Given the description of an element on the screen output the (x, y) to click on. 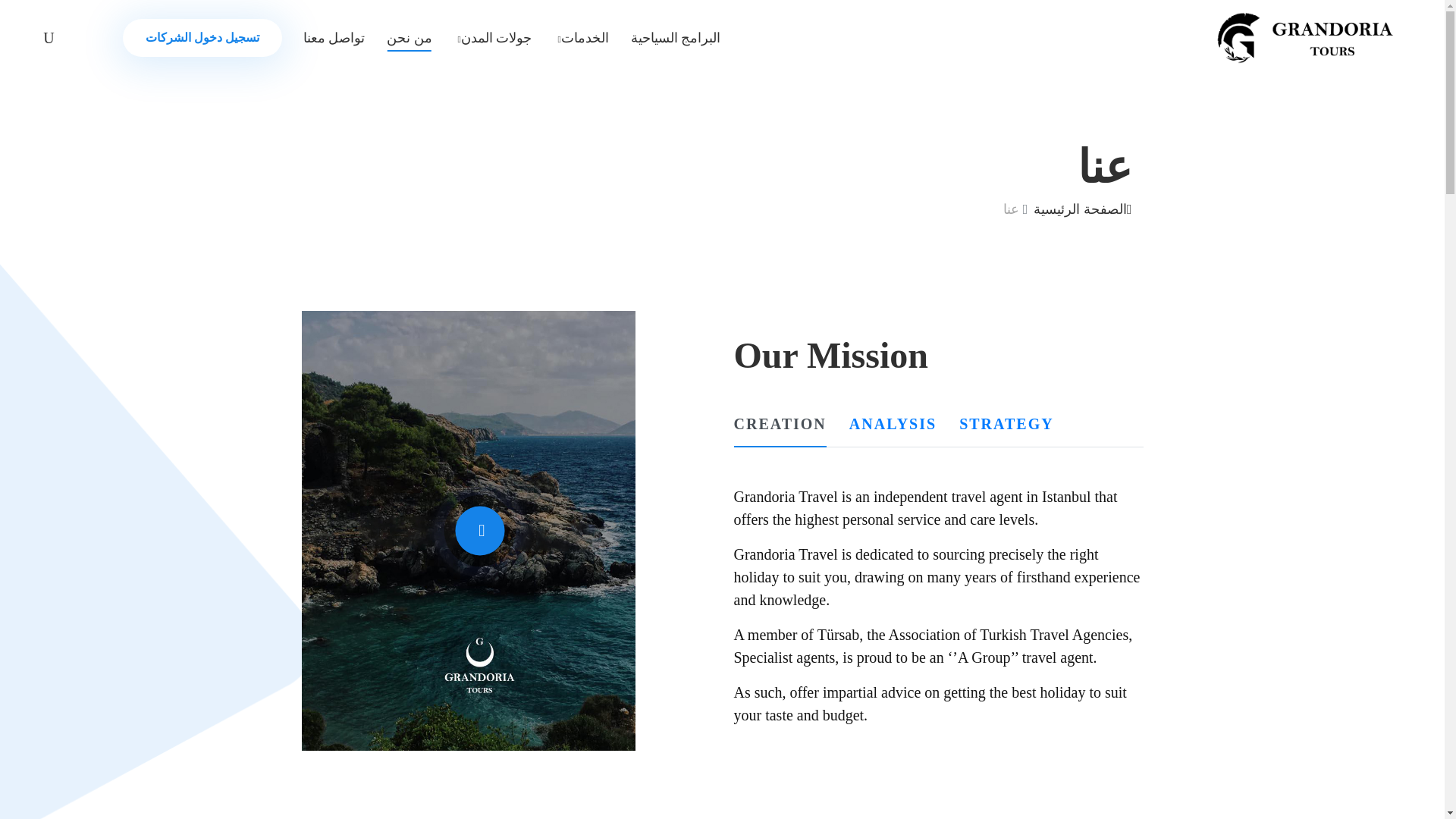
CREATION (780, 429)
ANALYSIS (892, 429)
STRATEGY (1006, 429)
